Given the description of an element on the screen output the (x, y) to click on. 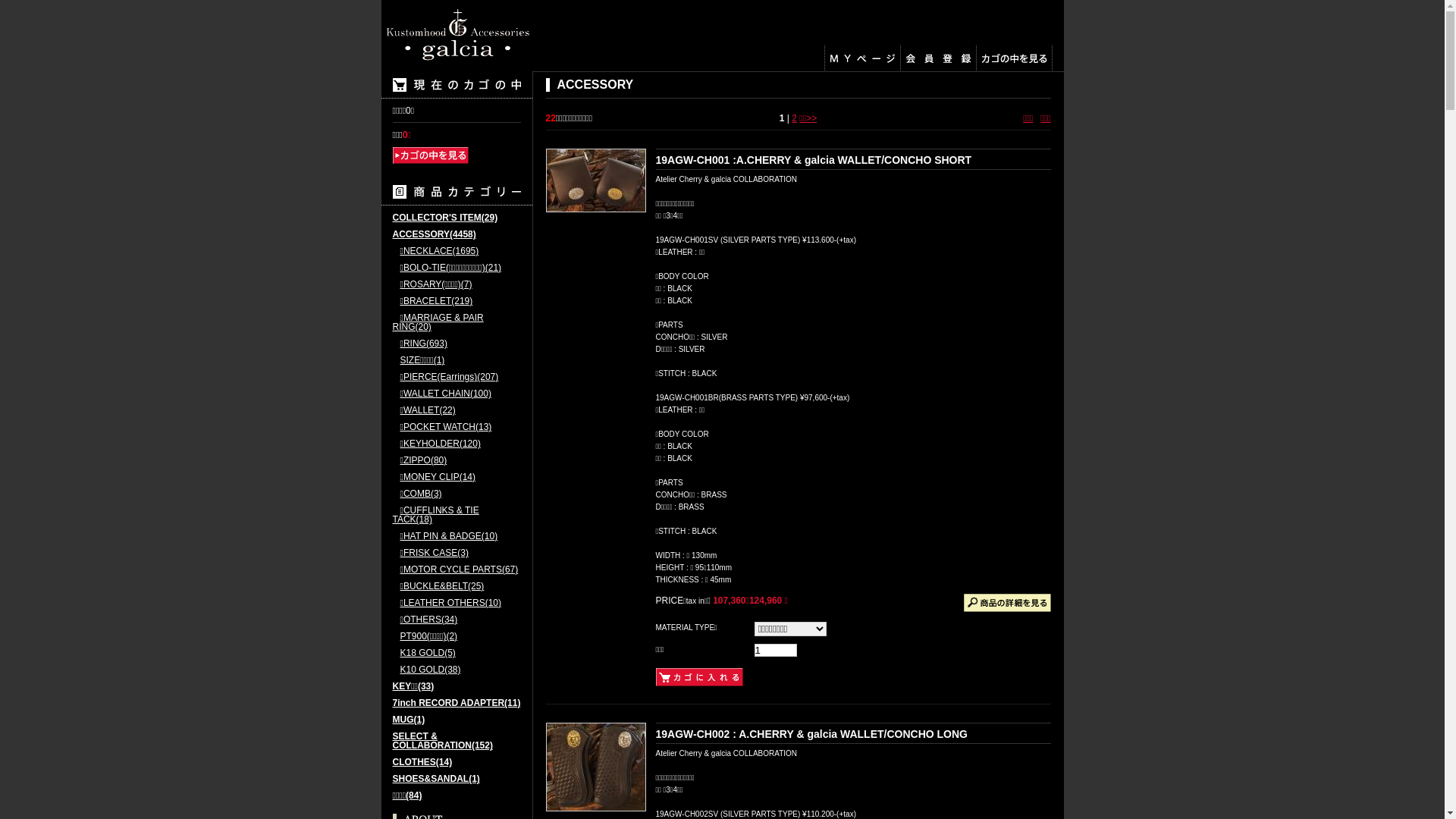
SHOES&SANDAL(1) Element type: text (456, 782)
K10 GOLD(38) Element type: text (456, 673)
2 Element type: text (794, 117)
7inch RECORD ADAPTER(11) Element type: text (456, 706)
COLLECTOR'S ITEM(29) Element type: text (456, 221)
19AGW-CH001 :A.CHERRY & galcia WALLET/CONCHO SHORT Element type: text (813, 159)
K18 GOLD(5) Element type: text (456, 656)
CLOTHES(14) Element type: text (456, 765)
ACCESSORY(4458) Element type: text (456, 237)
SELECT & COLLABORATION(152) Element type: text (456, 744)
19AGW-CH002 : A.CHERRY & galcia WALLET/CONCHO LONG Element type: text (810, 734)
MUG(1) Element type: text (456, 723)
